Given the description of an element on the screen output the (x, y) to click on. 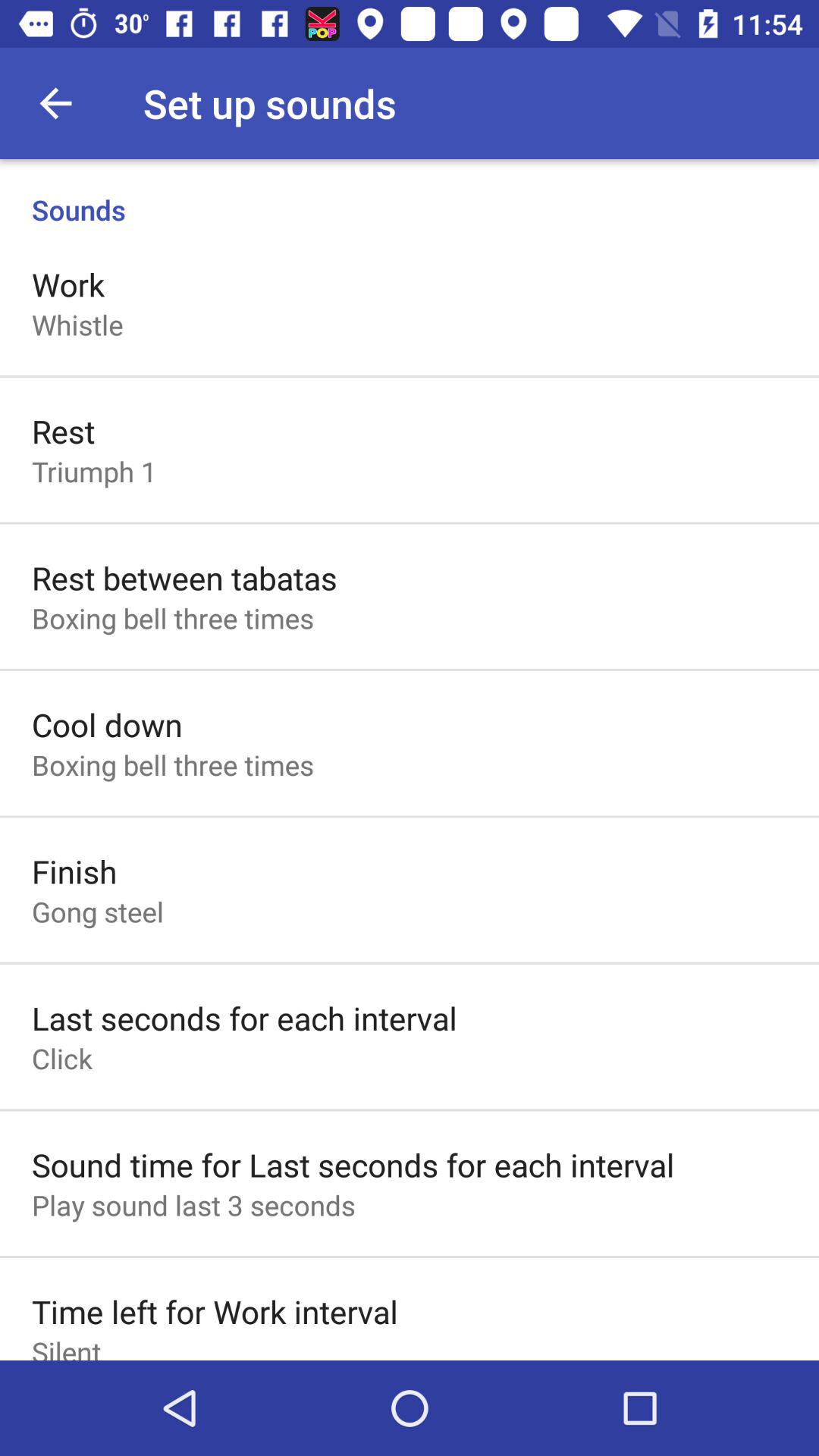
turn on the icon above rest item (77, 324)
